Given the description of an element on the screen output the (x, y) to click on. 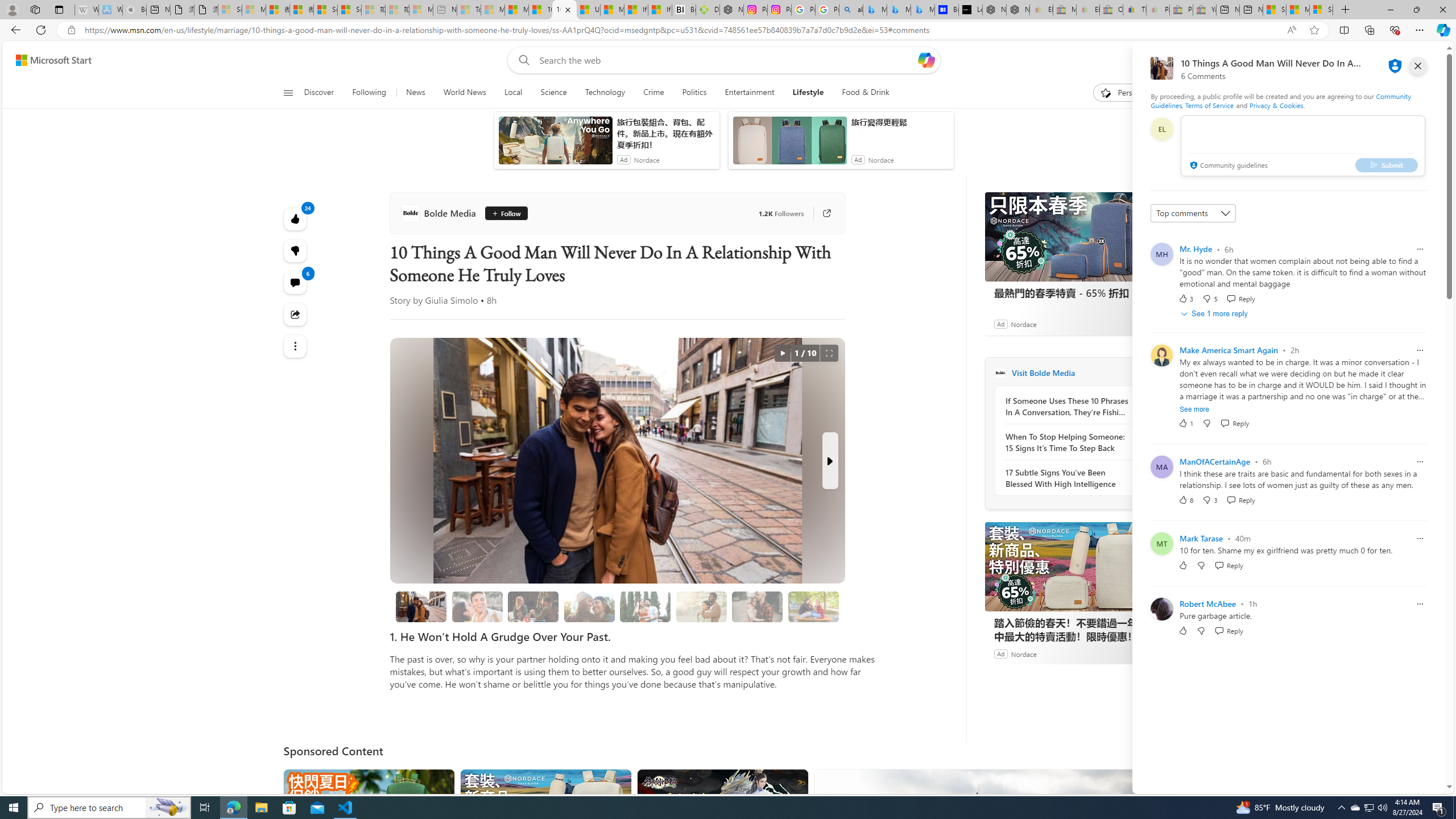
Address and search bar (680, 29)
Food & Drink (860, 92)
New tab - Sleeping (444, 9)
Terms of Service (1209, 104)
Web search (520, 60)
Politics (694, 92)
Lifestyle (807, 92)
Class: progress (813, 604)
Shanghai, China hourly forecast | Microsoft Weather (1274, 9)
